Given the description of an element on the screen output the (x, y) to click on. 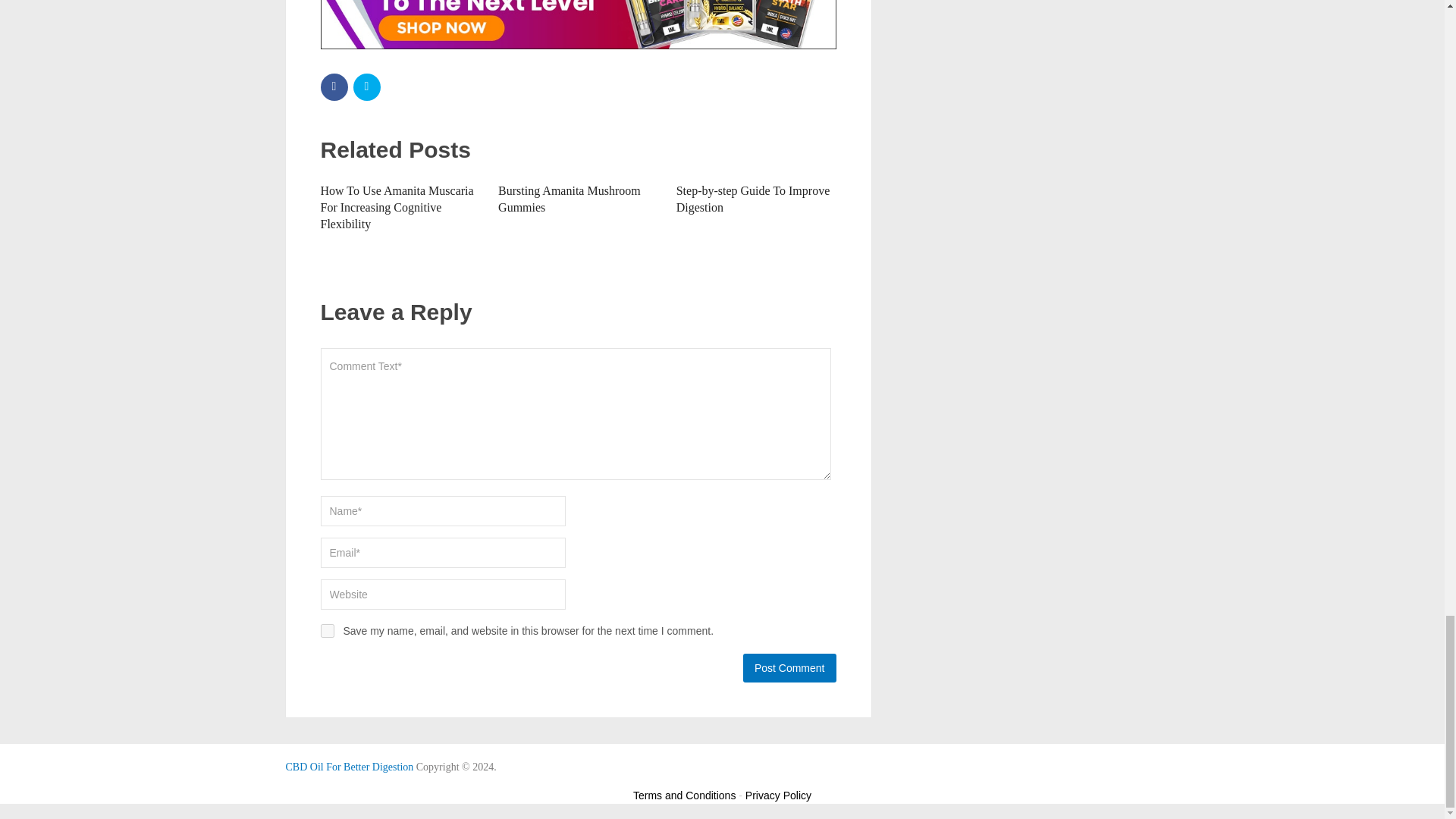
Step-by-step Guide To Improve Digestion (753, 198)
Bursting Amanita Mushroom Gummies (568, 198)
Bursting Amanita Mushroom Gummies (568, 198)
Post Comment (788, 667)
yes (326, 631)
Step-by-step Guide To Improve Digestion (753, 198)
Post Comment (788, 667)
